Given the description of an element on the screen output the (x, y) to click on. 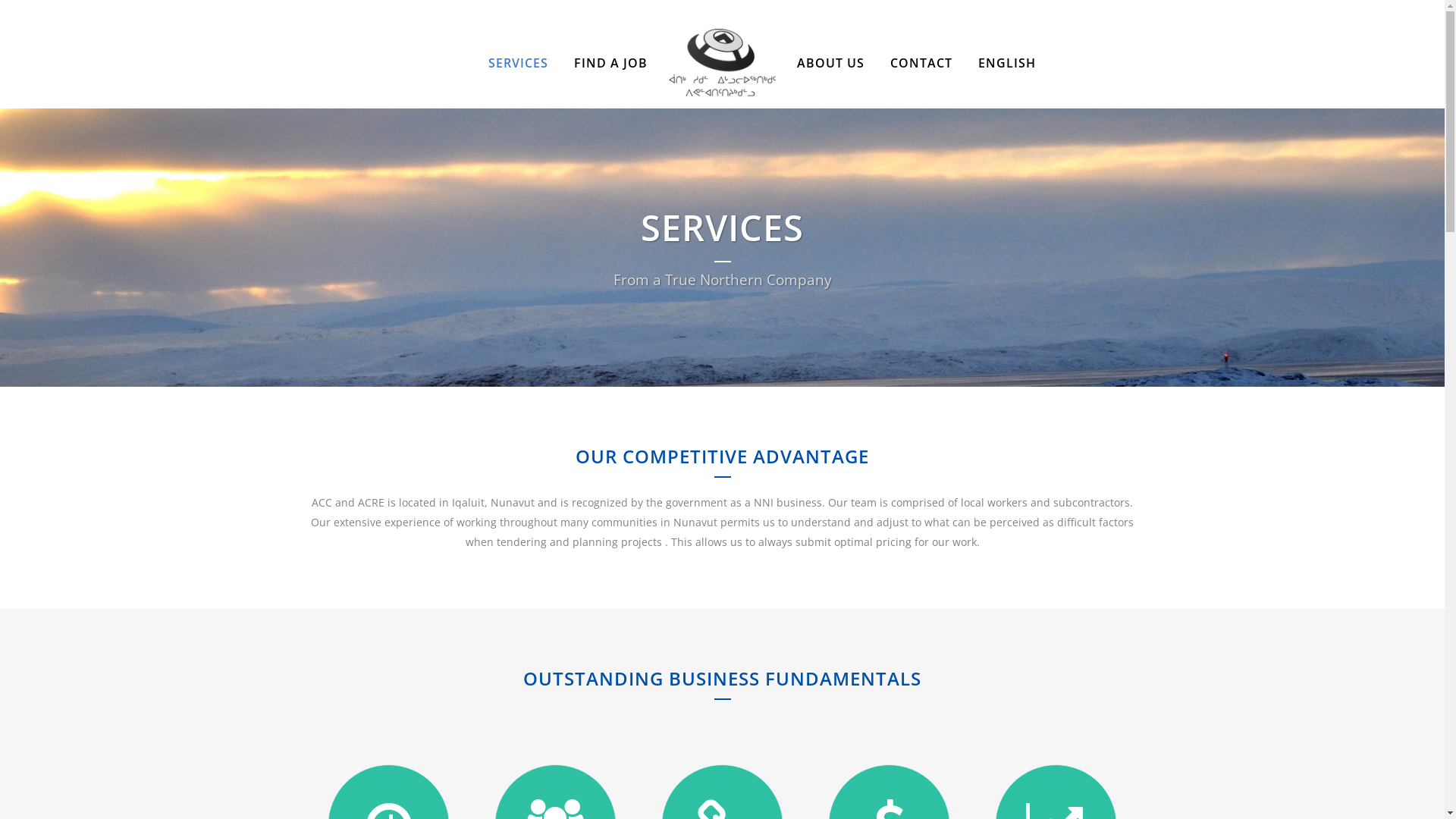
ENGLISH Element type: text (1008, 62)
SERVICES Element type: text (518, 62)
ABOUT US Element type: text (830, 62)
Services Element type: text (403, 606)
Find a job Element type: text (403, 635)
FIND A JOB Element type: text (610, 62)
About Us Element type: text (403, 576)
CONTACT Element type: text (921, 62)
